Given the description of an element on the screen output the (x, y) to click on. 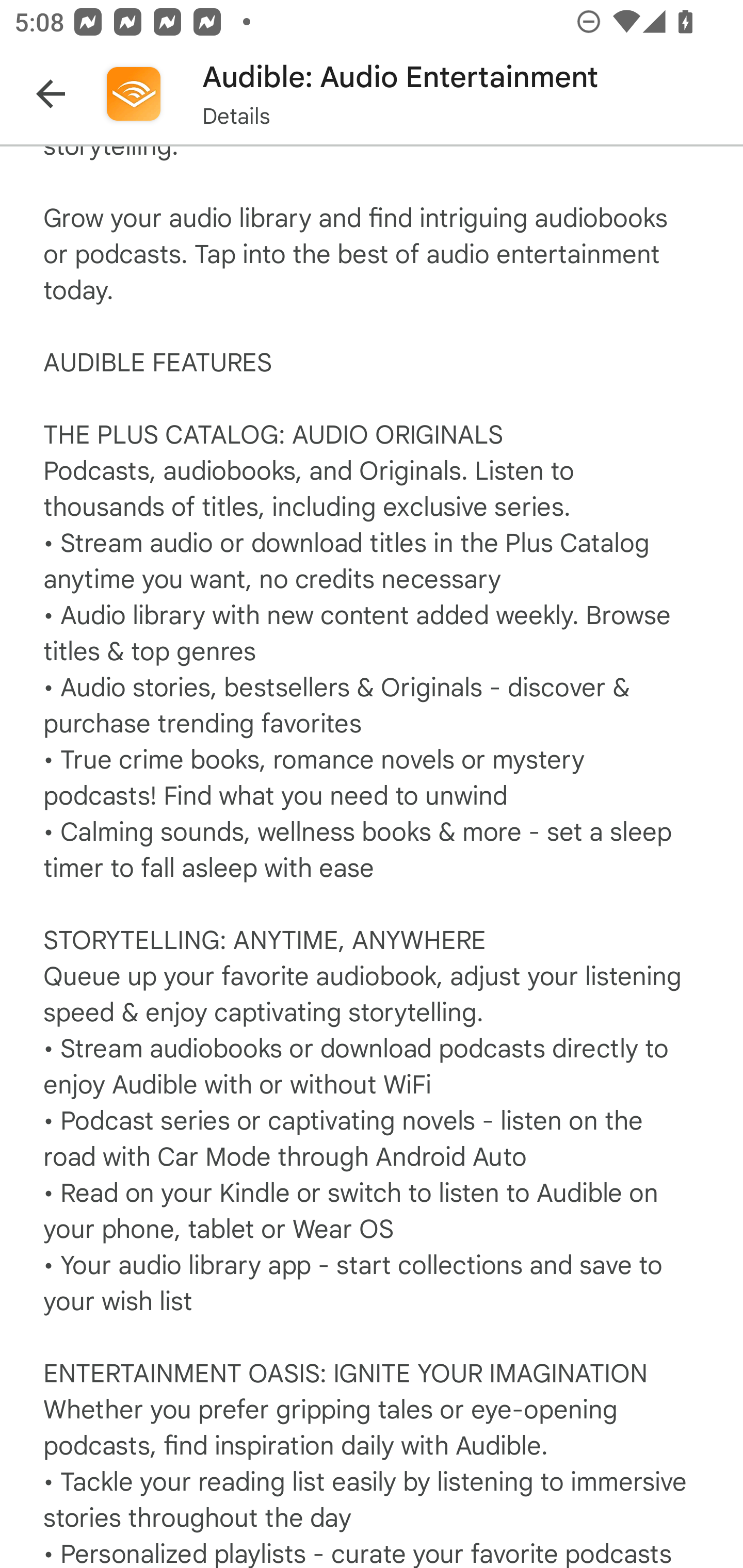
Navigate up (50, 93)
